Given the description of an element on the screen output the (x, y) to click on. 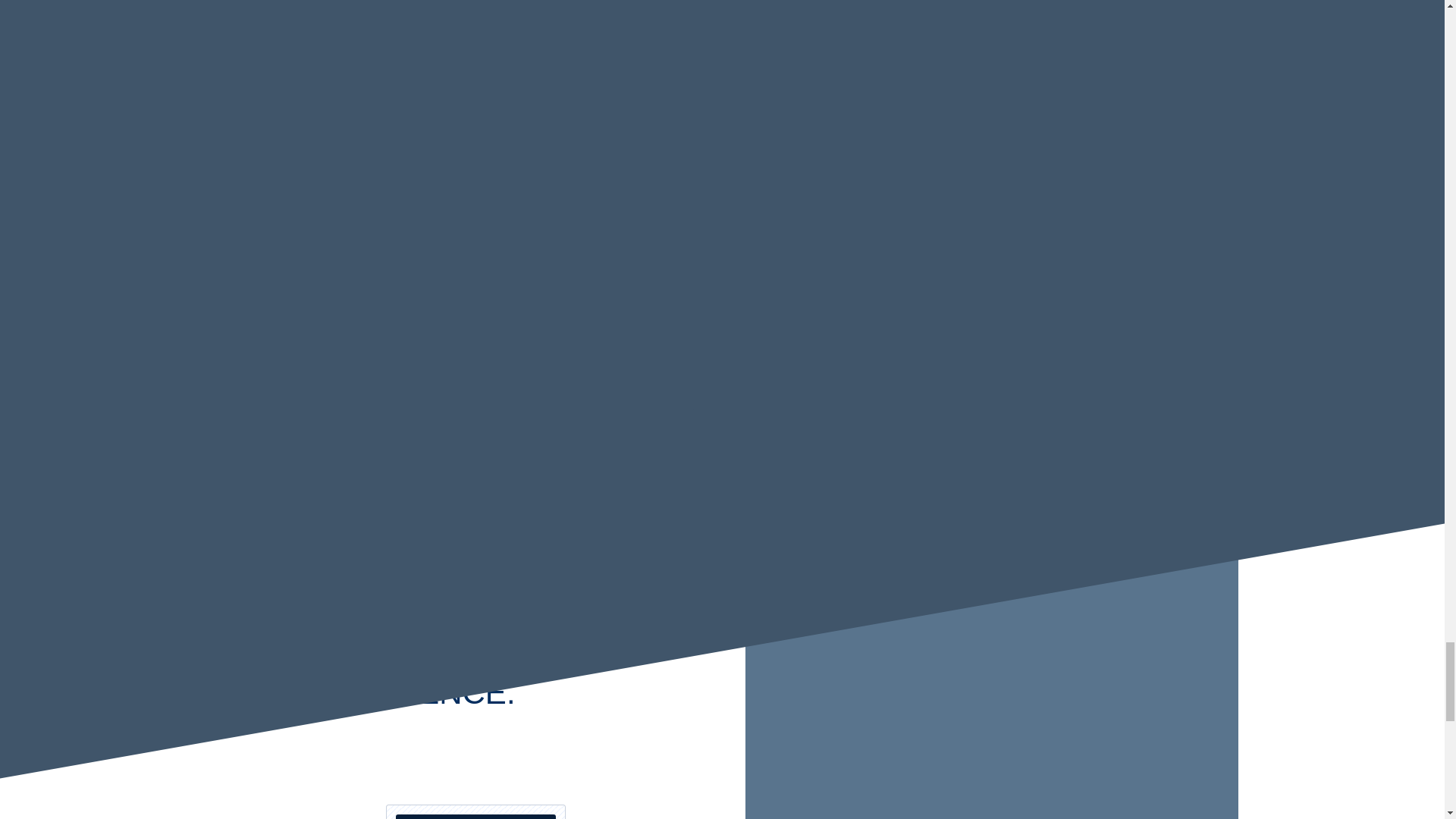
CONTACT (475, 811)
